Given the description of an element on the screen output the (x, y) to click on. 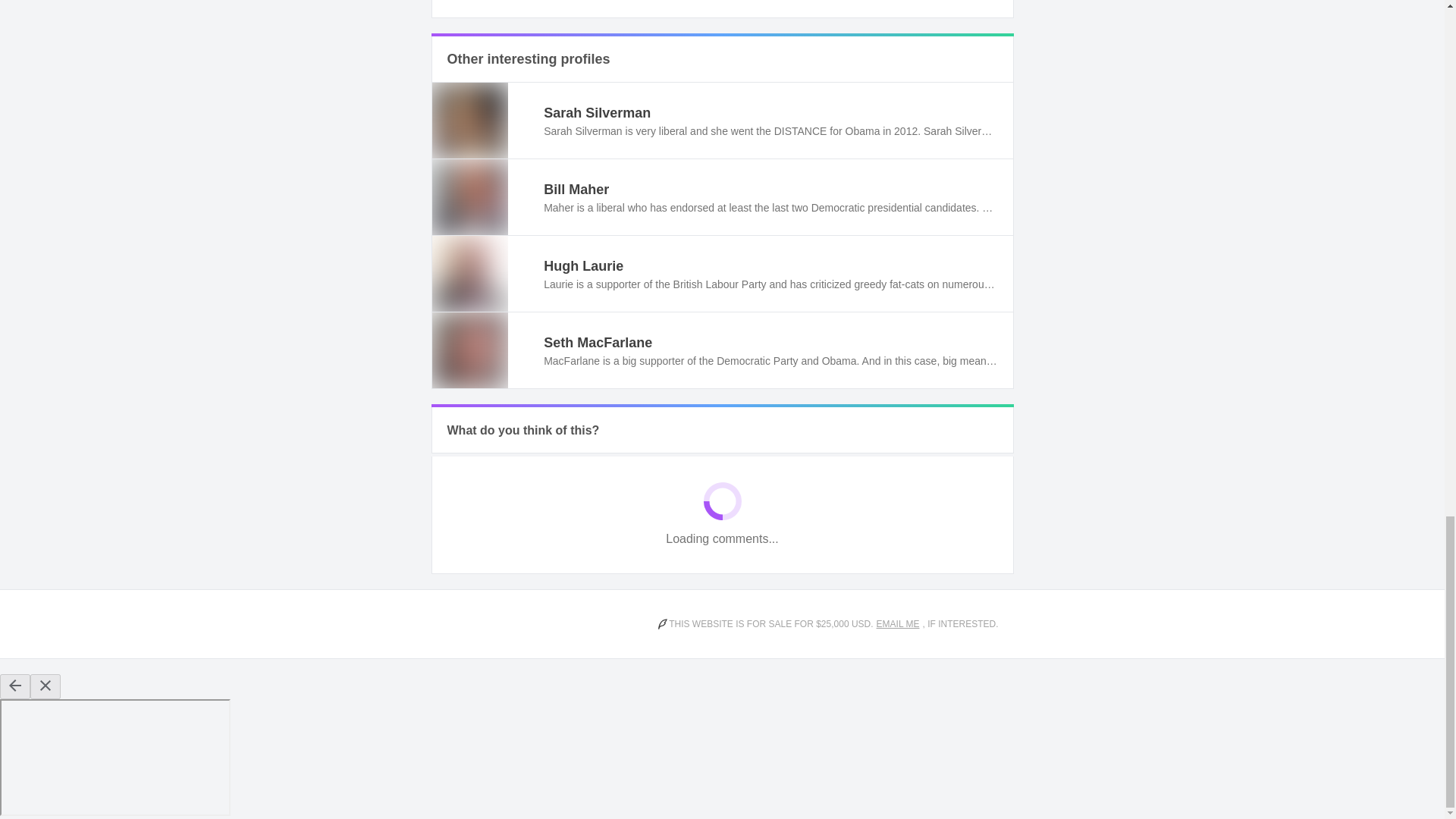
EMAIL ME (898, 624)
